Given the description of an element on the screen output the (x, y) to click on. 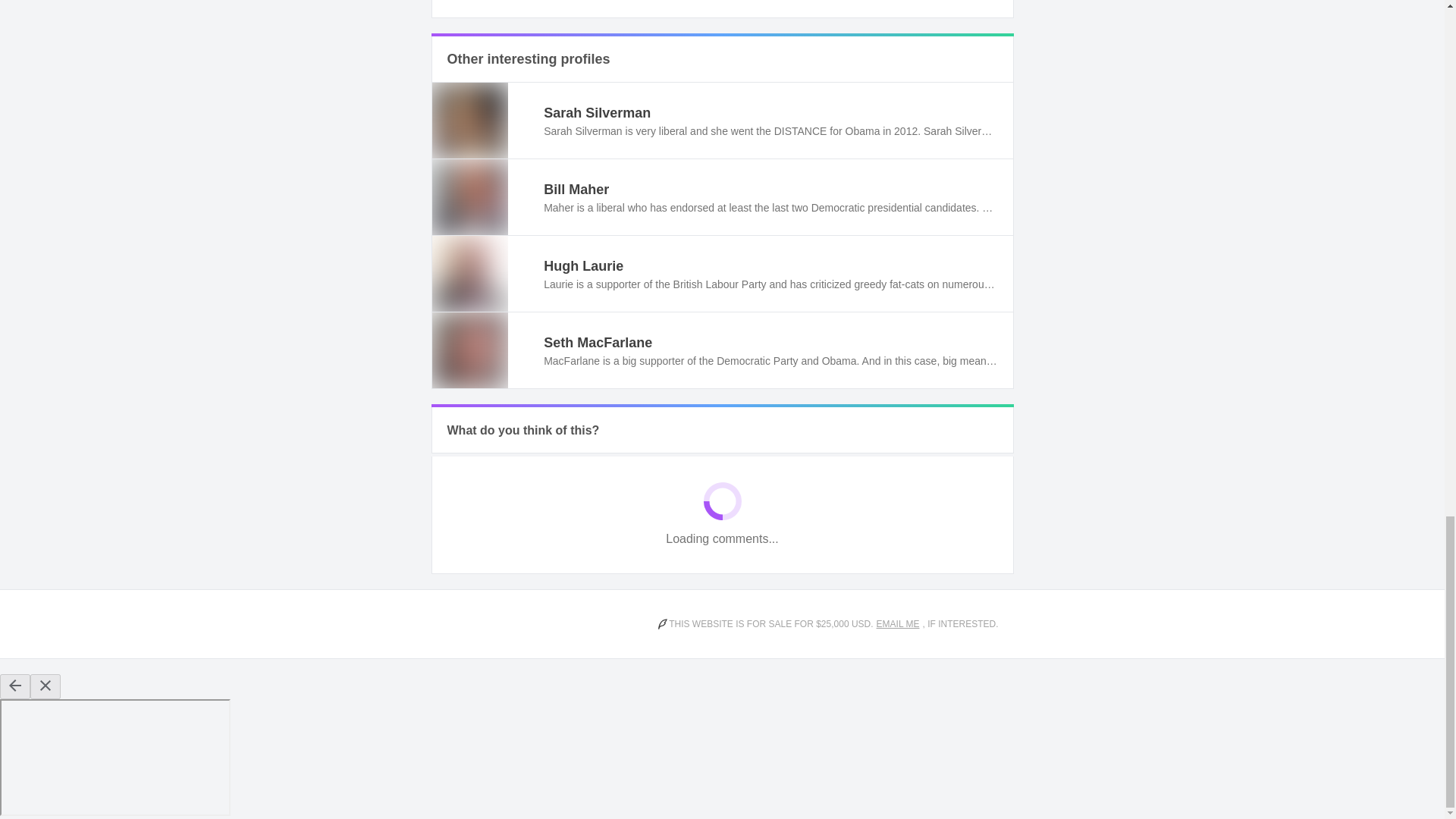
EMAIL ME (898, 624)
